Given the description of an element on the screen output the (x, y) to click on. 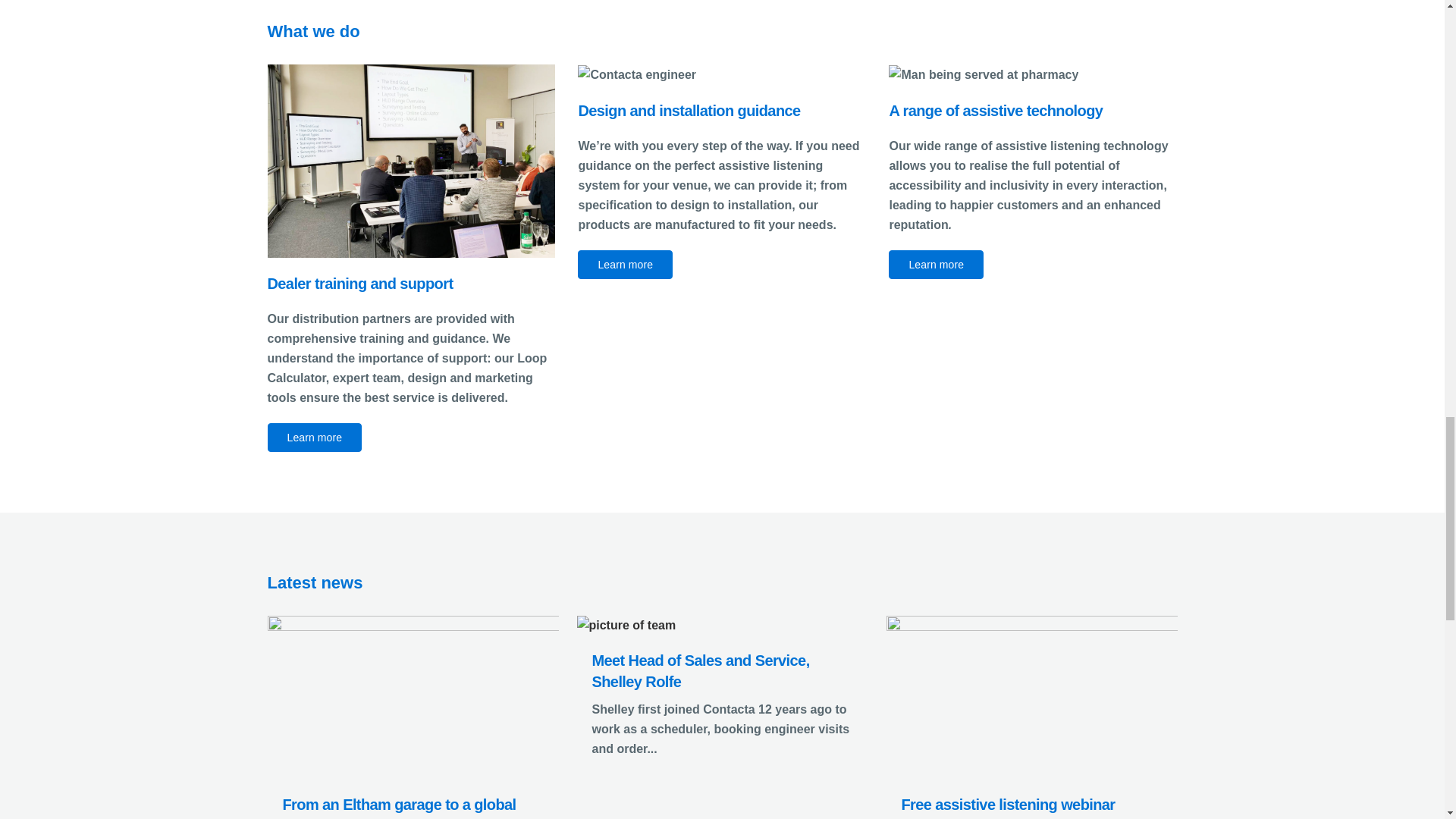
Assistive Technology (983, 75)
PHOTO-2019-01-10-10-29-02 2 copy (410, 160)
ContactaDay1-1154 (636, 75)
